Given the description of an element on the screen output the (x, y) to click on. 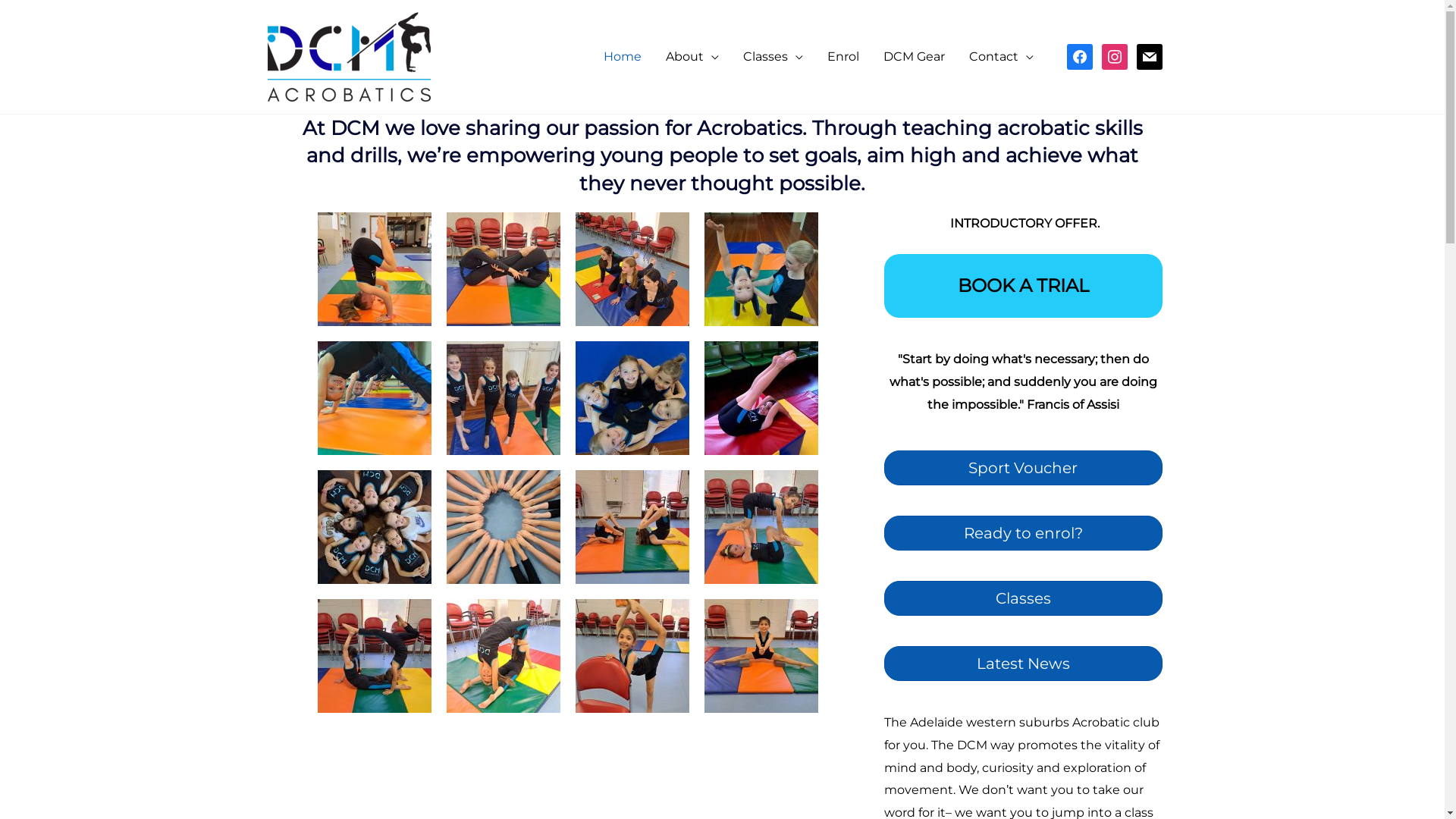
1 Element type: hover (760, 655)
7 Element type: hover (373, 269)
instagram Element type: text (1113, 55)
16 Element type: hover (760, 269)
13 Element type: hover (631, 398)
DCM Gear Element type: text (913, 56)
Latest News Element type: text (1023, 663)
Ready to enrol? Element type: text (1023, 532)
3 Element type: hover (502, 655)
Classes Element type: text (1023, 597)
9 Element type: hover (502, 269)
10 Element type: hover (631, 269)
12 Element type: hover (760, 398)
About Element type: text (692, 56)
14 Element type: hover (502, 398)
BOOK A TRIAL Element type: text (1023, 285)
Contact Element type: text (1001, 56)
Home Element type: text (622, 56)
8 Element type: hover (502, 526)
mail Element type: text (1148, 55)
6 Element type: hover (631, 526)
2 Element type: hover (631, 655)
Enrol Element type: text (842, 56)
5 Element type: hover (760, 526)
11 Element type: hover (373, 526)
facebook Element type: text (1079, 55)
4 Element type: hover (373, 655)
Classes Element type: text (773, 56)
Sport Voucher Element type: text (1023, 467)
15 Element type: hover (373, 398)
